Given the description of an element on the screen output the (x, y) to click on. 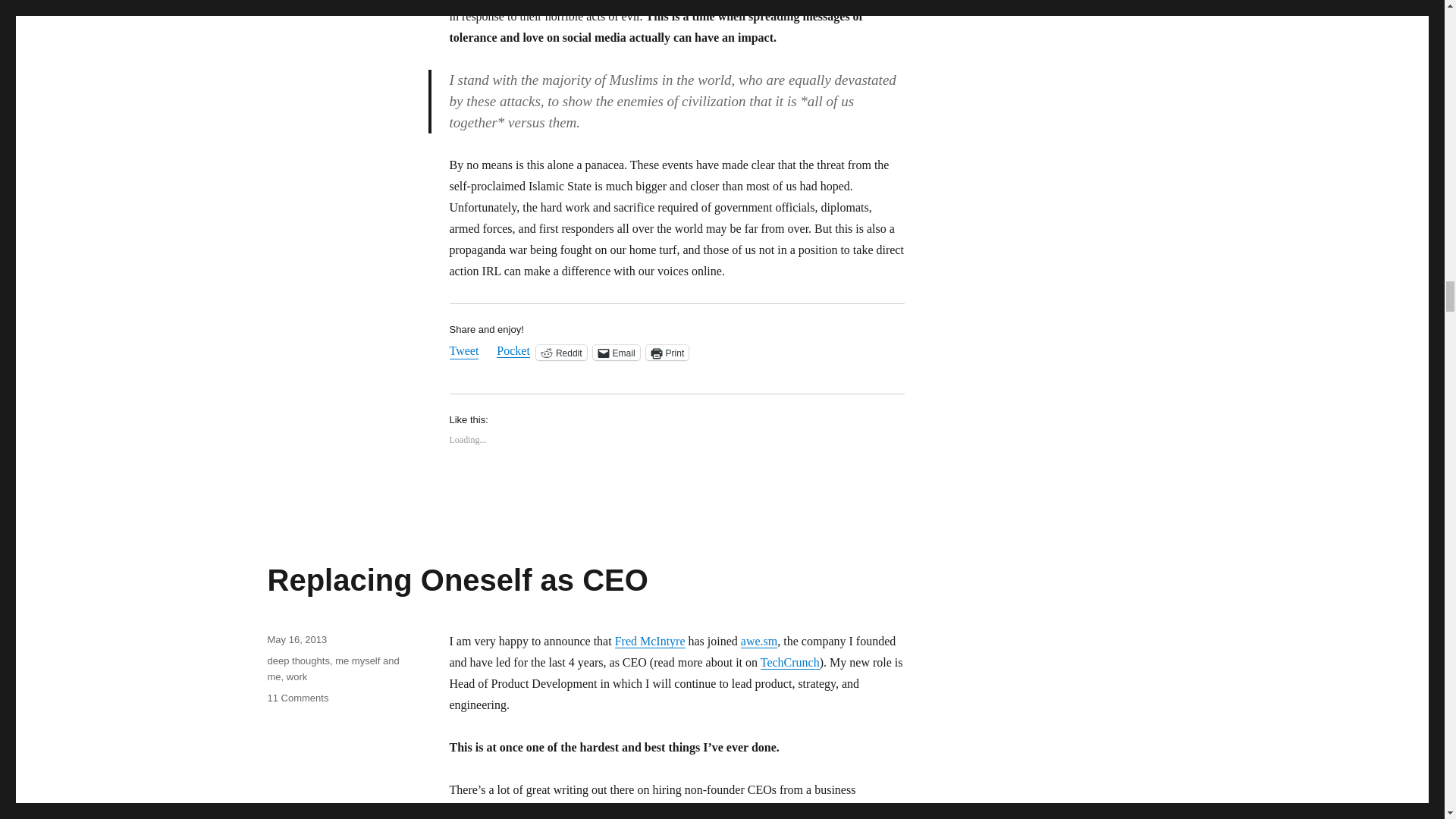
Click to email a link to a friend (616, 352)
Click to print (667, 352)
Click to share on Reddit (560, 352)
